Given the description of an element on the screen output the (x, y) to click on. 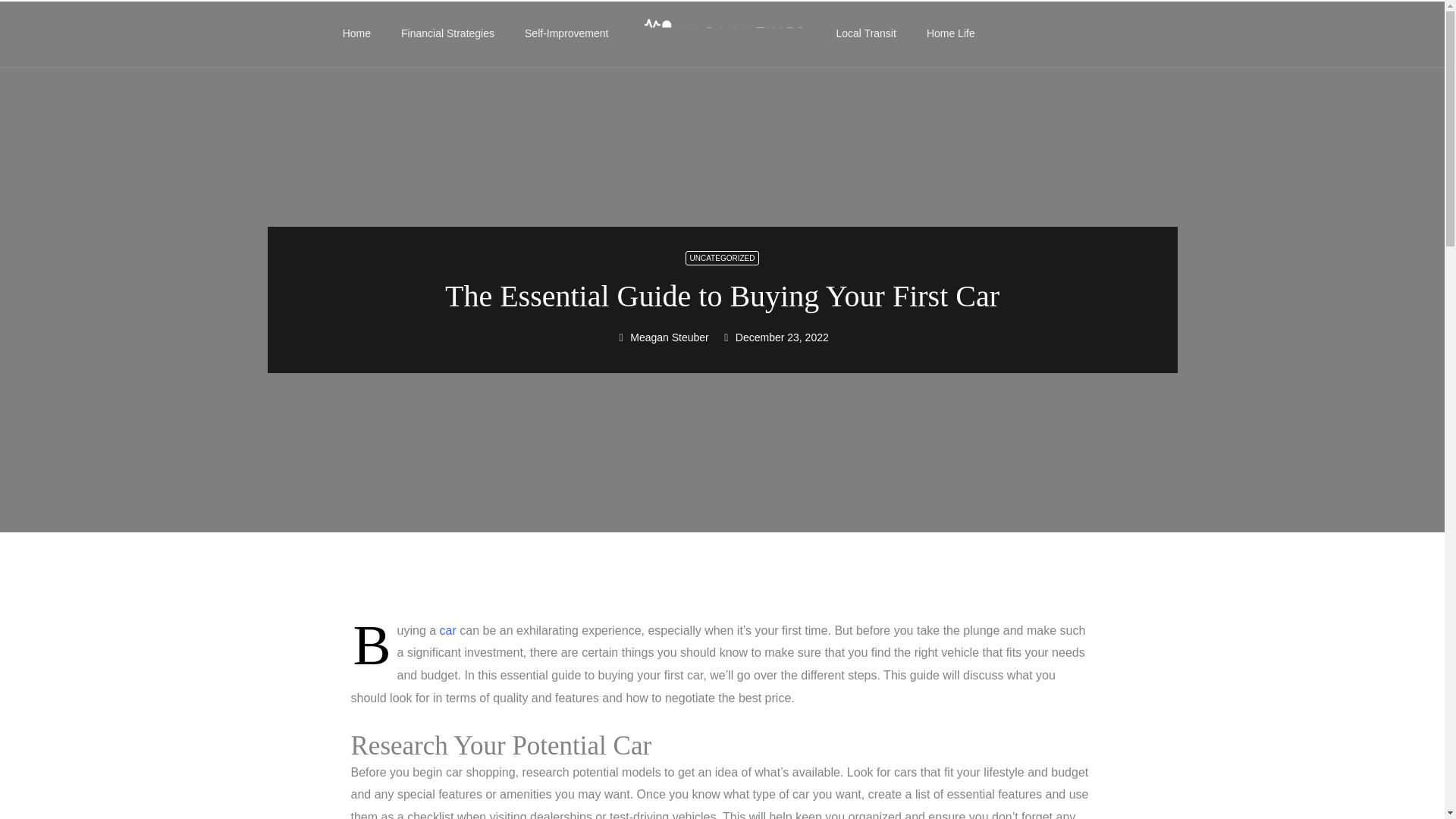
December 23, 2022 (774, 337)
Financial Strategies (447, 33)
UNCATEGORIZED (722, 257)
Local Transit (866, 33)
car (448, 630)
Self-Improvement (566, 33)
Home (356, 33)
Home Life (950, 33)
Meagan Steuber (662, 337)
